Given the description of an element on the screen output the (x, y) to click on. 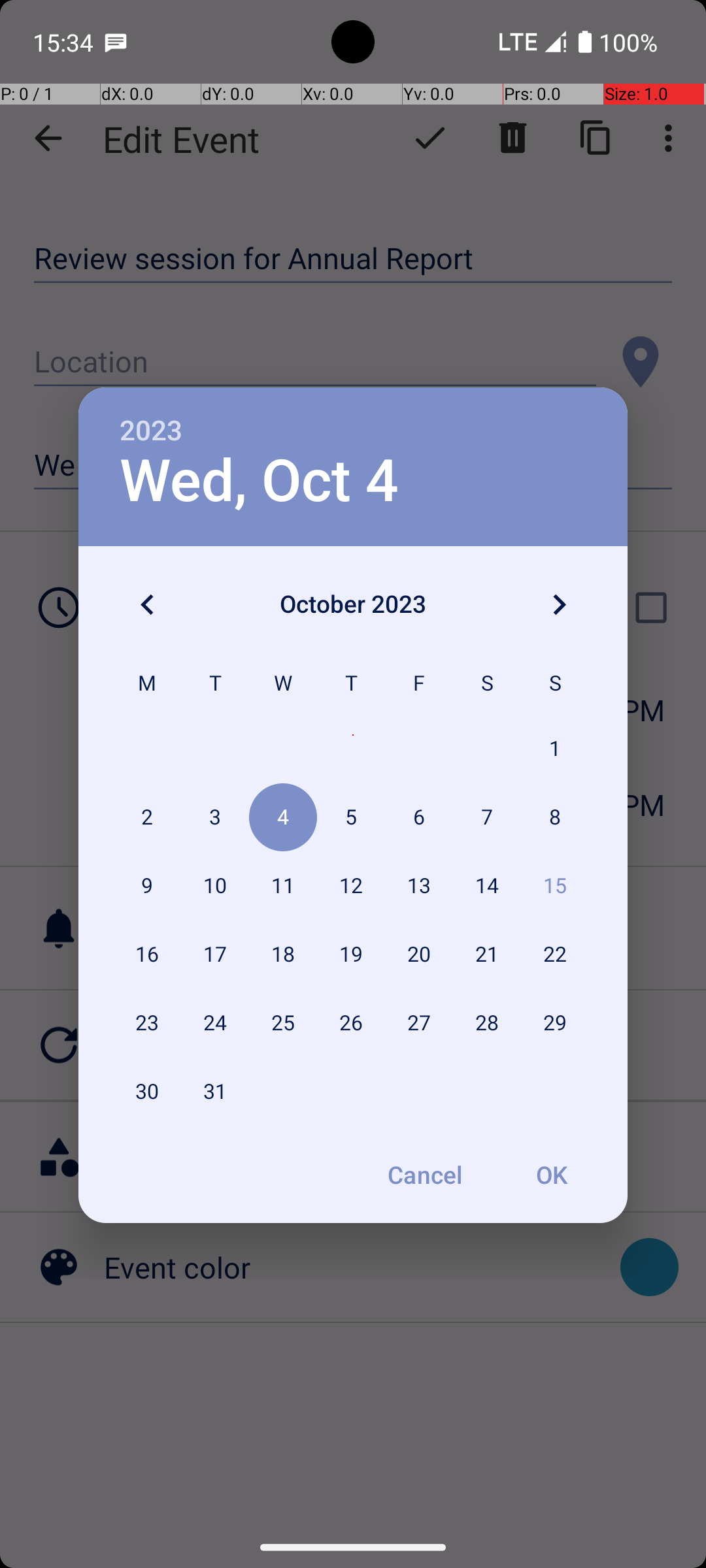
Wed, Oct 4 Element type: android.widget.TextView (258, 480)
